Given the description of an element on the screen output the (x, y) to click on. 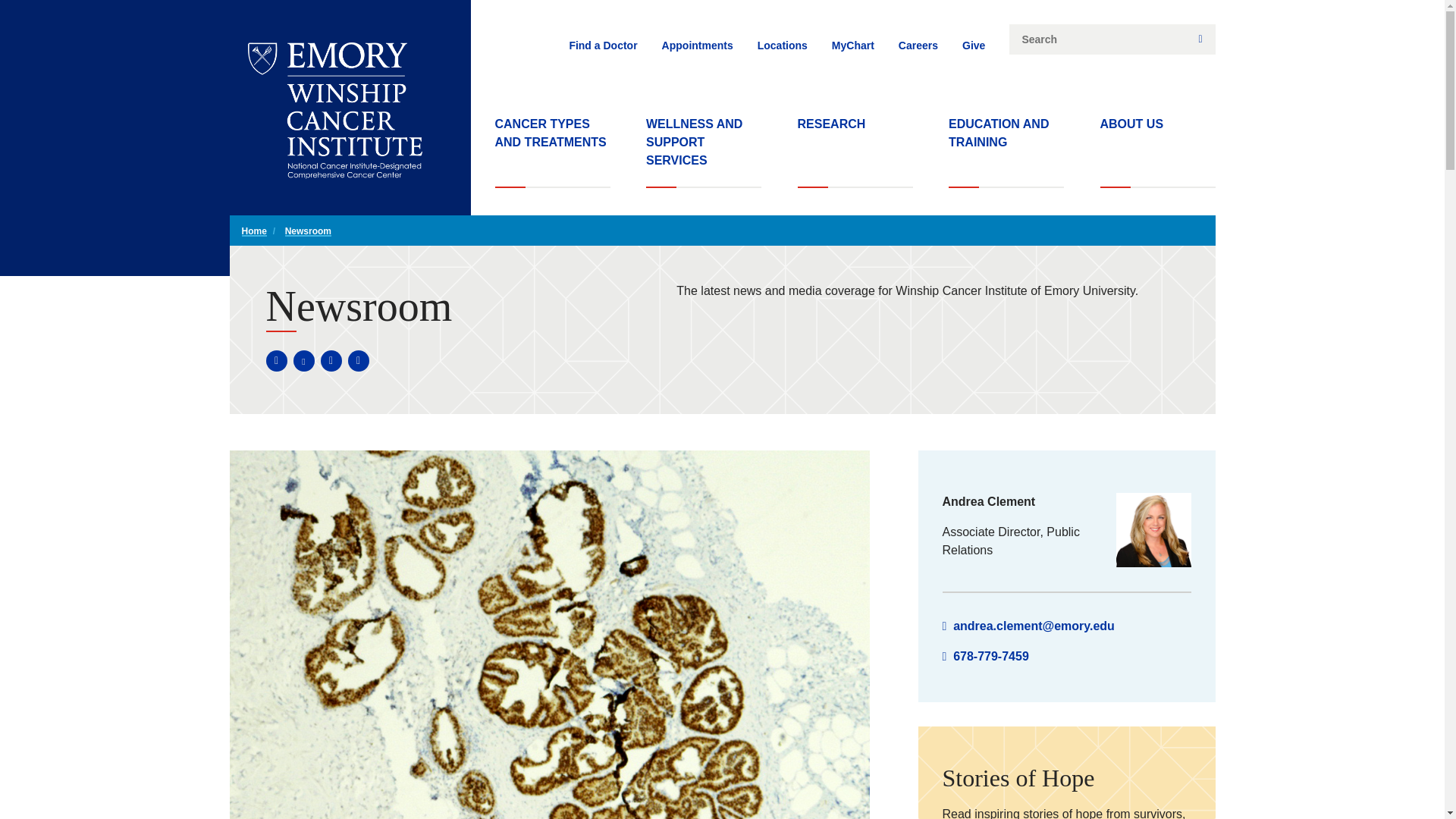
Give (973, 45)
Find a Doctor (603, 45)
CANCER TYPES AND TREATMENTS (552, 151)
WELLNESS AND SUPPORT SERVICES (703, 151)
Newsroom (308, 231)
Emory Winship Cancer Institute (334, 110)
RESEARCH (854, 151)
EDUCATION AND TRAINING (1006, 151)
Search (1199, 39)
Appointments (697, 45)
Locations (782, 45)
Careers (917, 45)
MyChart (853, 45)
Home (253, 231)
ABOUT US (1156, 151)
